Given the description of an element on the screen output the (x, y) to click on. 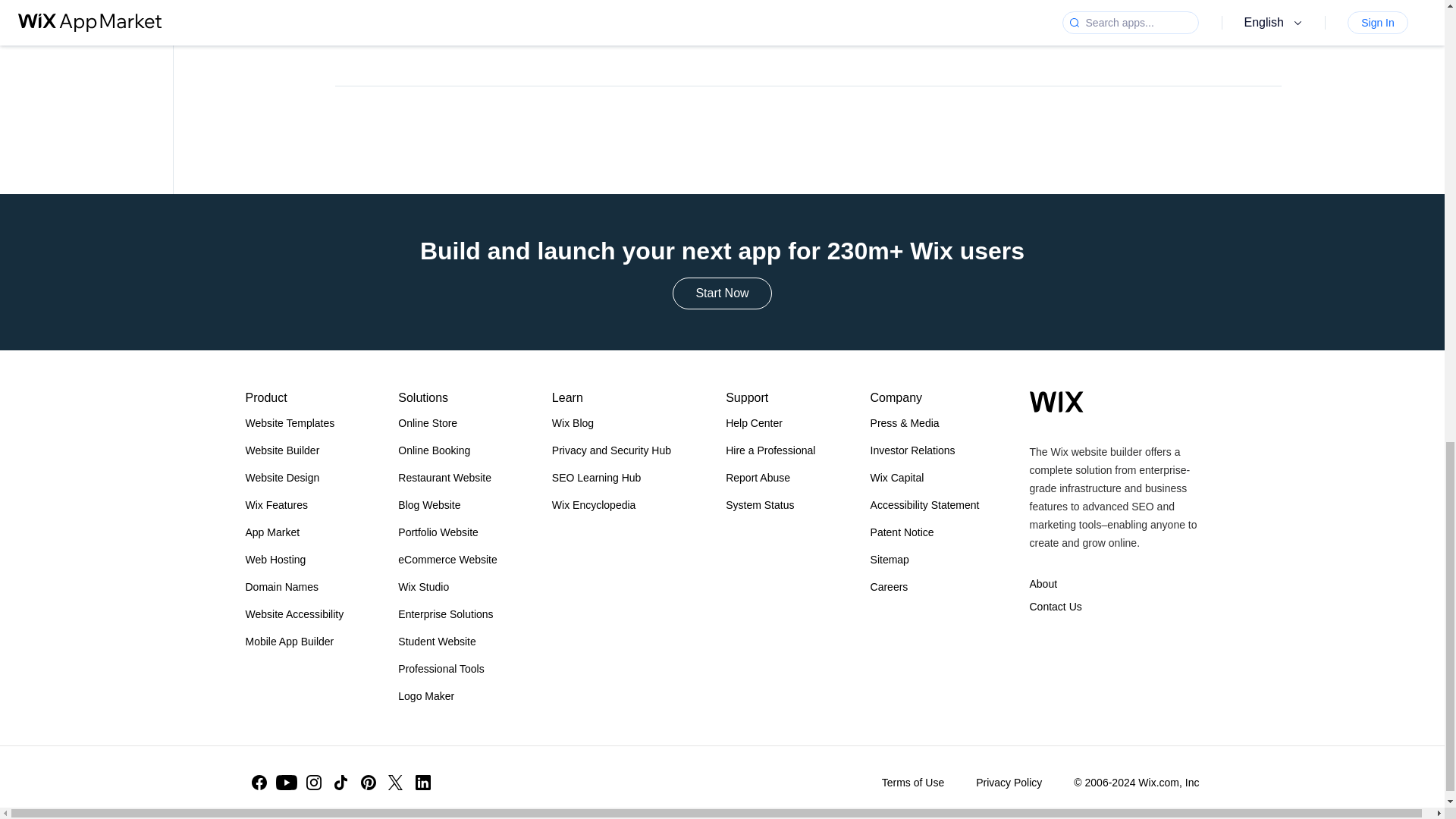
Twitter (395, 782)
Linkedin (422, 782)
Instagram (313, 782)
Youtube (286, 782)
Wix.com (1056, 401)
TikTok (341, 782)
Facebook (259, 782)
Pinterest (368, 782)
